Given the description of an element on the screen output the (x, y) to click on. 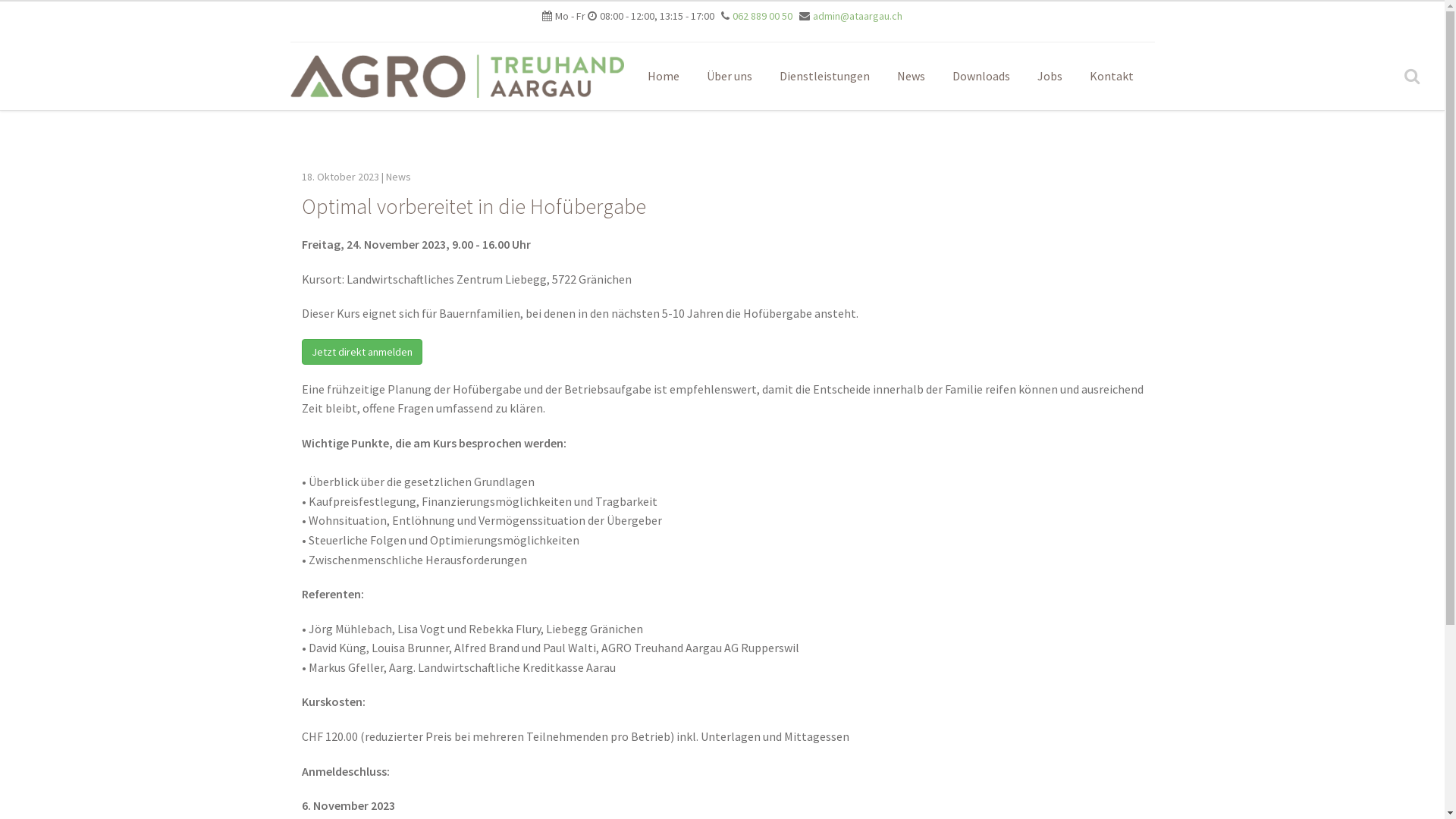
Jetzt direkt anmelden Element type: text (361, 351)
062 889 00 50 Element type: text (762, 15)
News Element type: text (910, 75)
Jobs Element type: text (1049, 75)
Agro Treuhand Aargau Element type: hover (456, 76)
Dienstleistungen Element type: text (824, 75)
Kontakt Element type: text (1110, 75)
Home Element type: text (663, 75)
admin@ataargau.ch Element type: text (857, 15)
Downloads Element type: text (980, 75)
